Given the description of an element on the screen output the (x, y) to click on. 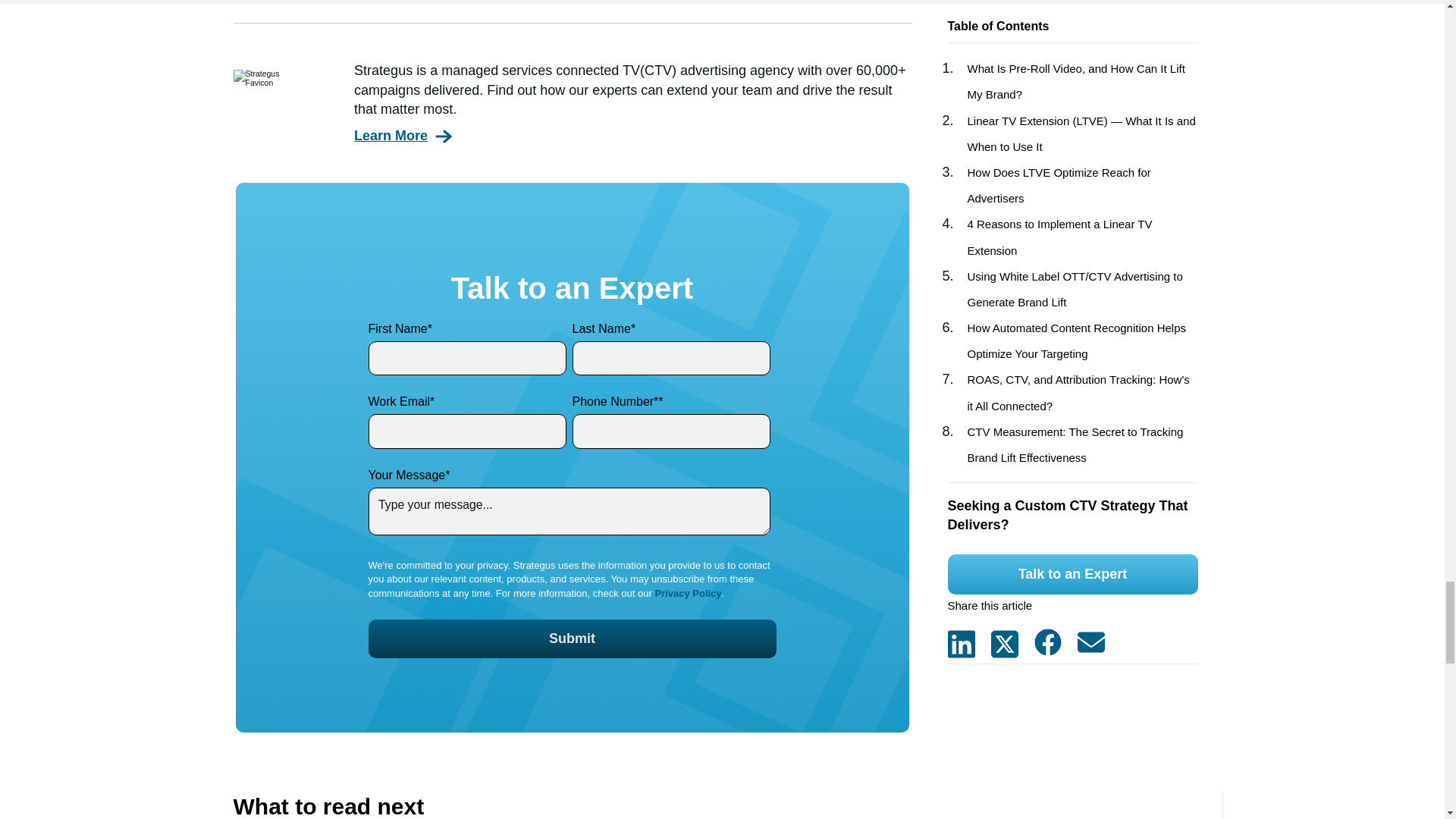
Submit (572, 638)
